Given the description of an element on the screen output the (x, y) to click on. 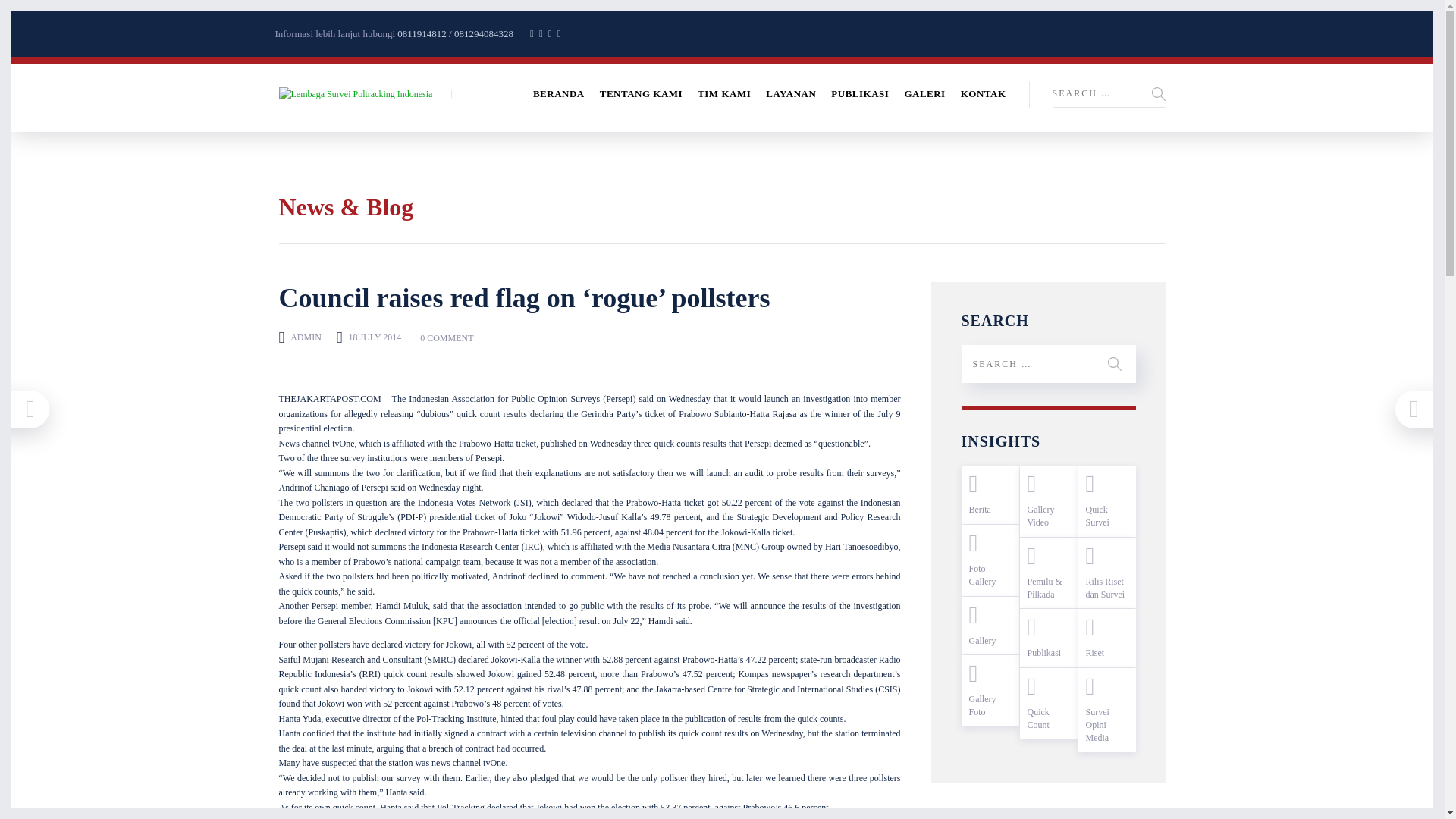
Search (1114, 363)
Search (1114, 363)
Search (1158, 93)
Search (1158, 93)
BERANDA (558, 93)
Search (1362, 90)
Search (1362, 90)
TIM KAMI (724, 93)
Search (1158, 93)
TENTANG KAMI (640, 93)
LAYANAN (790, 93)
PUBLIKASI (859, 93)
Posts by admin (305, 337)
